Given the description of an element on the screen output the (x, y) to click on. 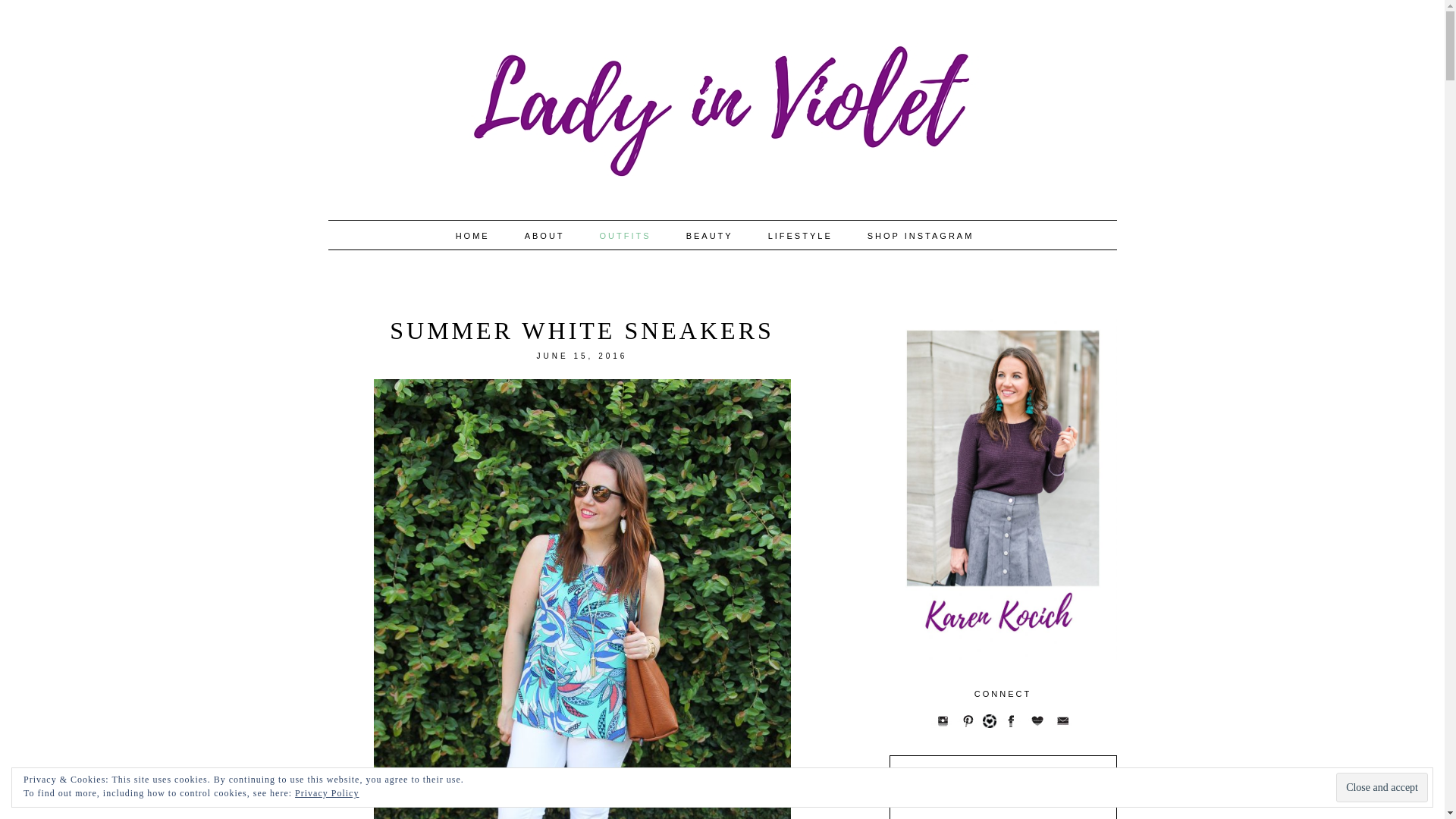
HOME (472, 235)
JUNE 15, 2016 (582, 356)
ABOUT (544, 235)
BEAUTY (709, 235)
OUTFITS (624, 235)
4:00 am (582, 356)
LIFESTYLE (799, 235)
SHOP INSTAGRAM (920, 235)
Close and accept (1382, 787)
